Given the description of an element on the screen output the (x, y) to click on. 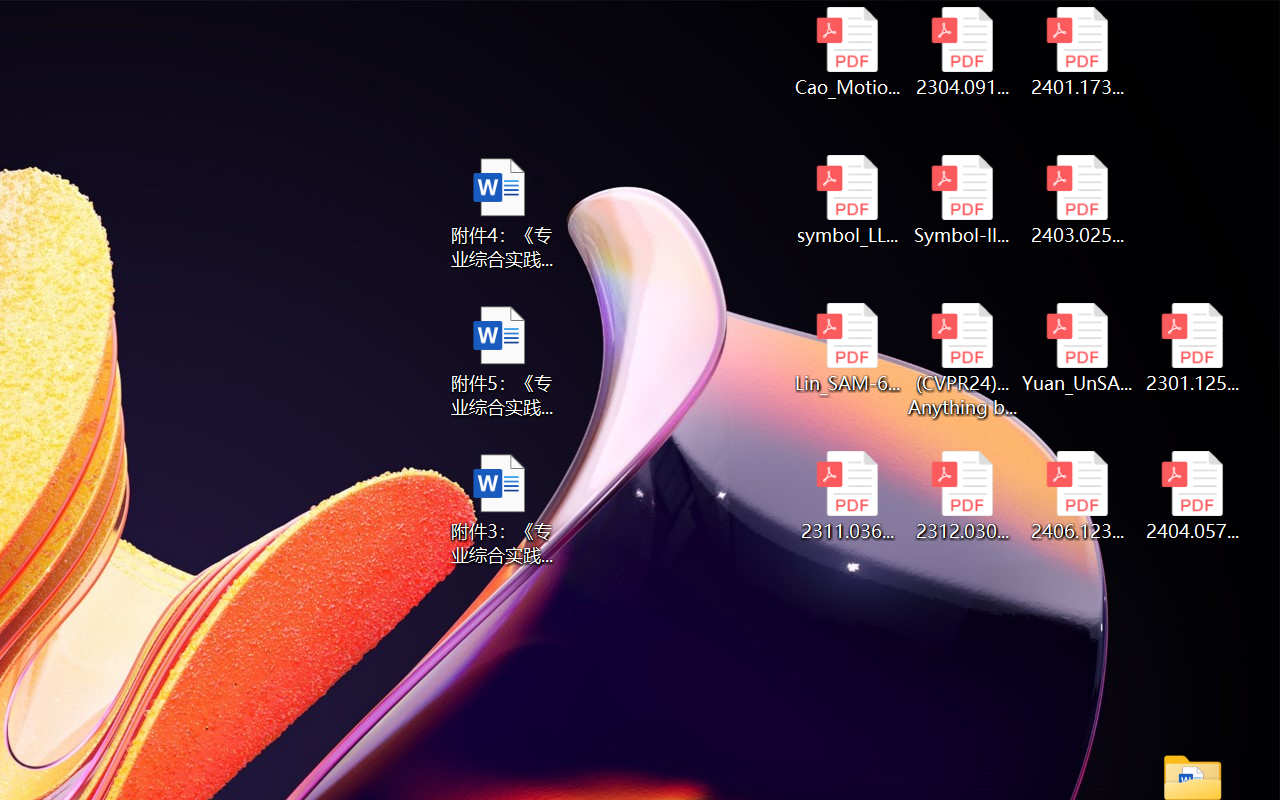
2403.02502v1.pdf (1077, 200)
2312.03032v2.pdf (962, 496)
symbol_LLM.pdf (846, 200)
2404.05719v1.pdf (1192, 496)
2406.12373v2.pdf (1077, 496)
2301.12597v3.pdf (1192, 348)
(CVPR24)Matching Anything by Segmenting Anything.pdf (962, 360)
2401.17399v1.pdf (1077, 52)
Symbol-llm-v2.pdf (962, 200)
